Given the description of an element on the screen output the (x, y) to click on. 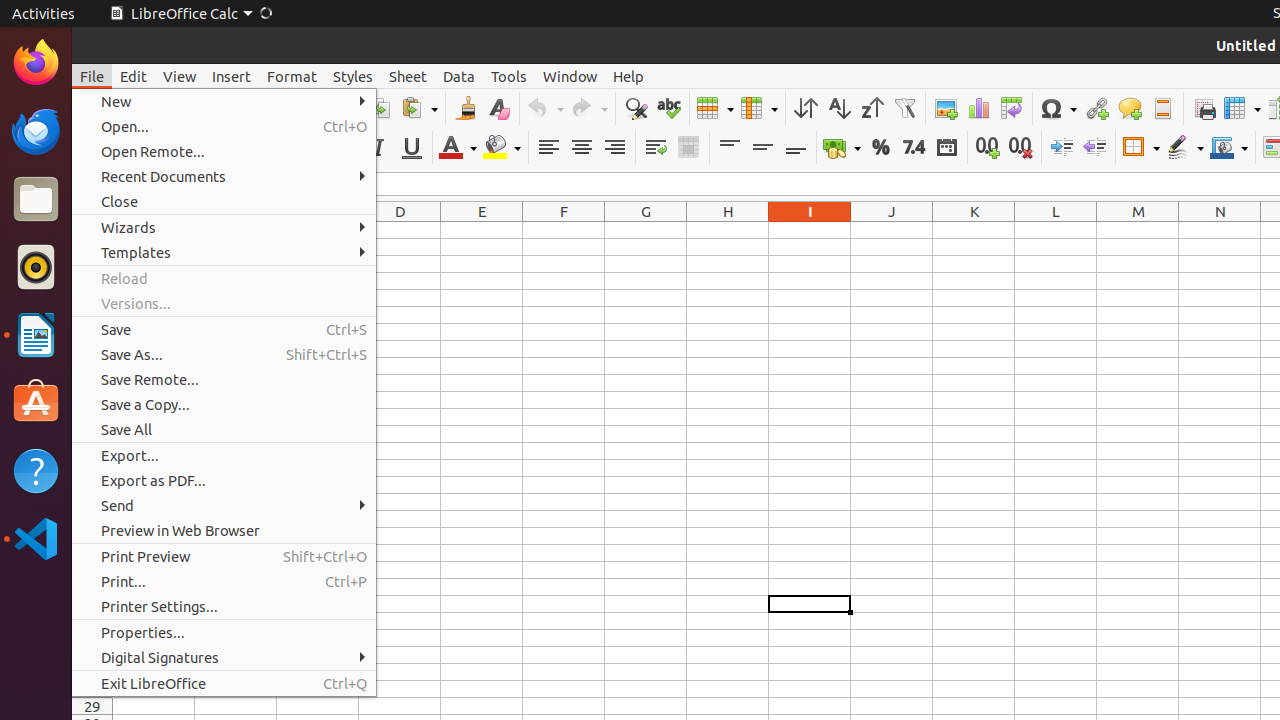
Background Color Element type: push-button (502, 147)
View Element type: menu (179, 76)
Exit LibreOffice Element type: menu-item (224, 683)
Versions... Element type: menu-item (224, 303)
Send Element type: menu (224, 505)
